Given the description of an element on the screen output the (x, y) to click on. 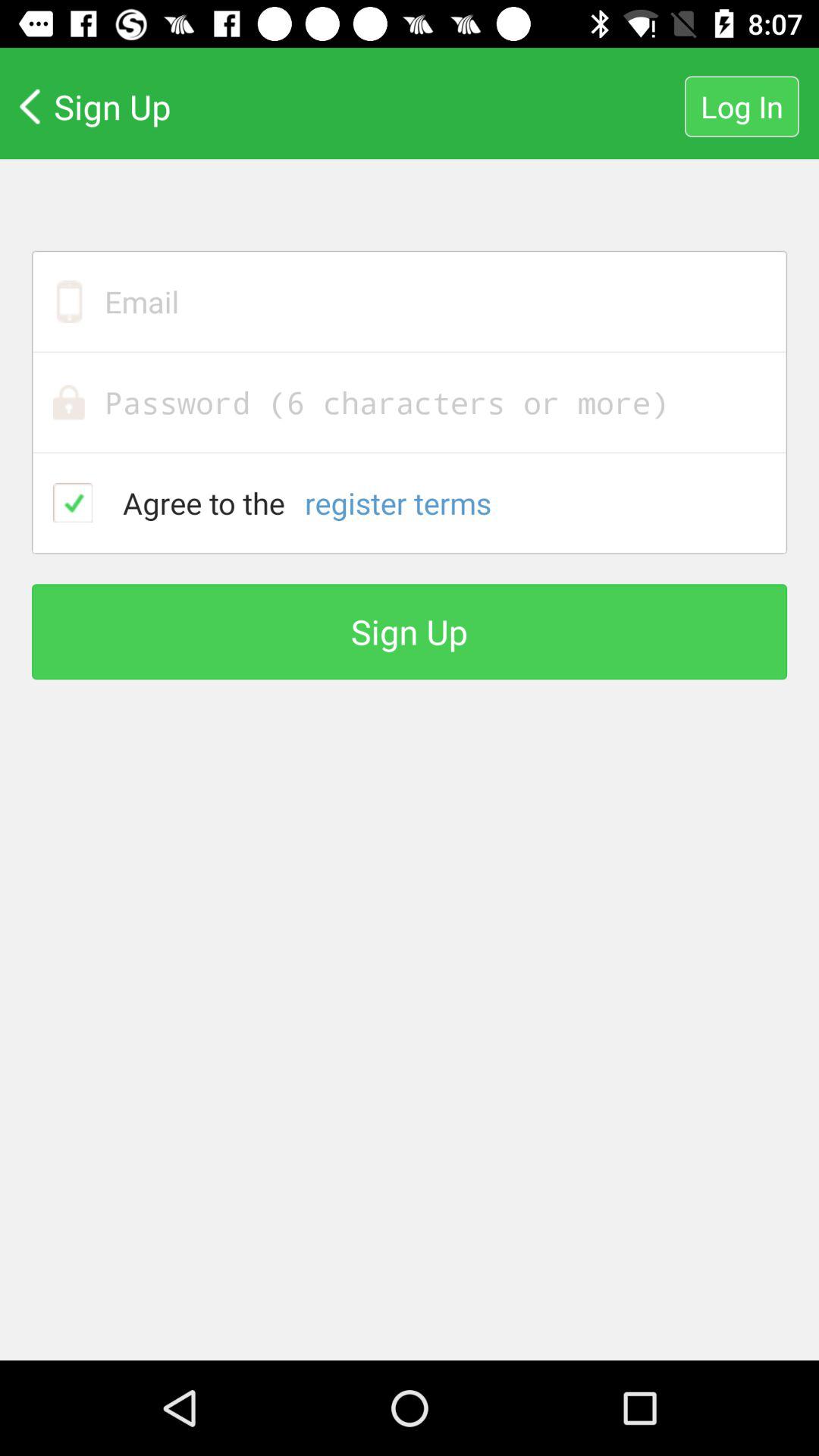
tap log in at the top right corner (741, 106)
